Given the description of an element on the screen output the (x, y) to click on. 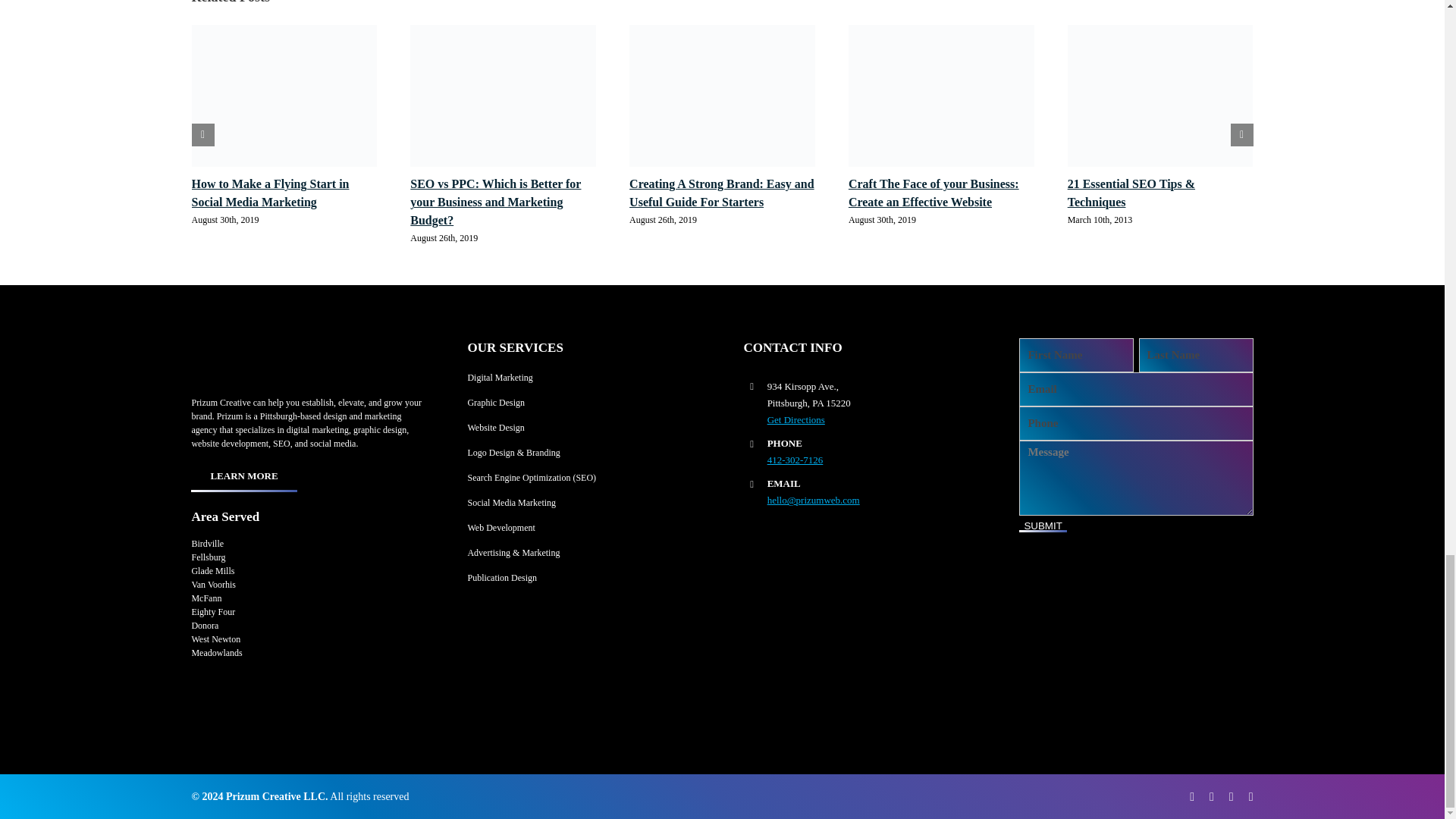
Craft The Face of your Business: Create an Effective Website (933, 192)
Creating A Strong Brand: Easy and Useful Guide For Starters (720, 192)
prizum-creative-logo (279, 362)
How to Make a Flying Start in Social Media Marketing (269, 192)
